Given the description of an element on the screen output the (x, y) to click on. 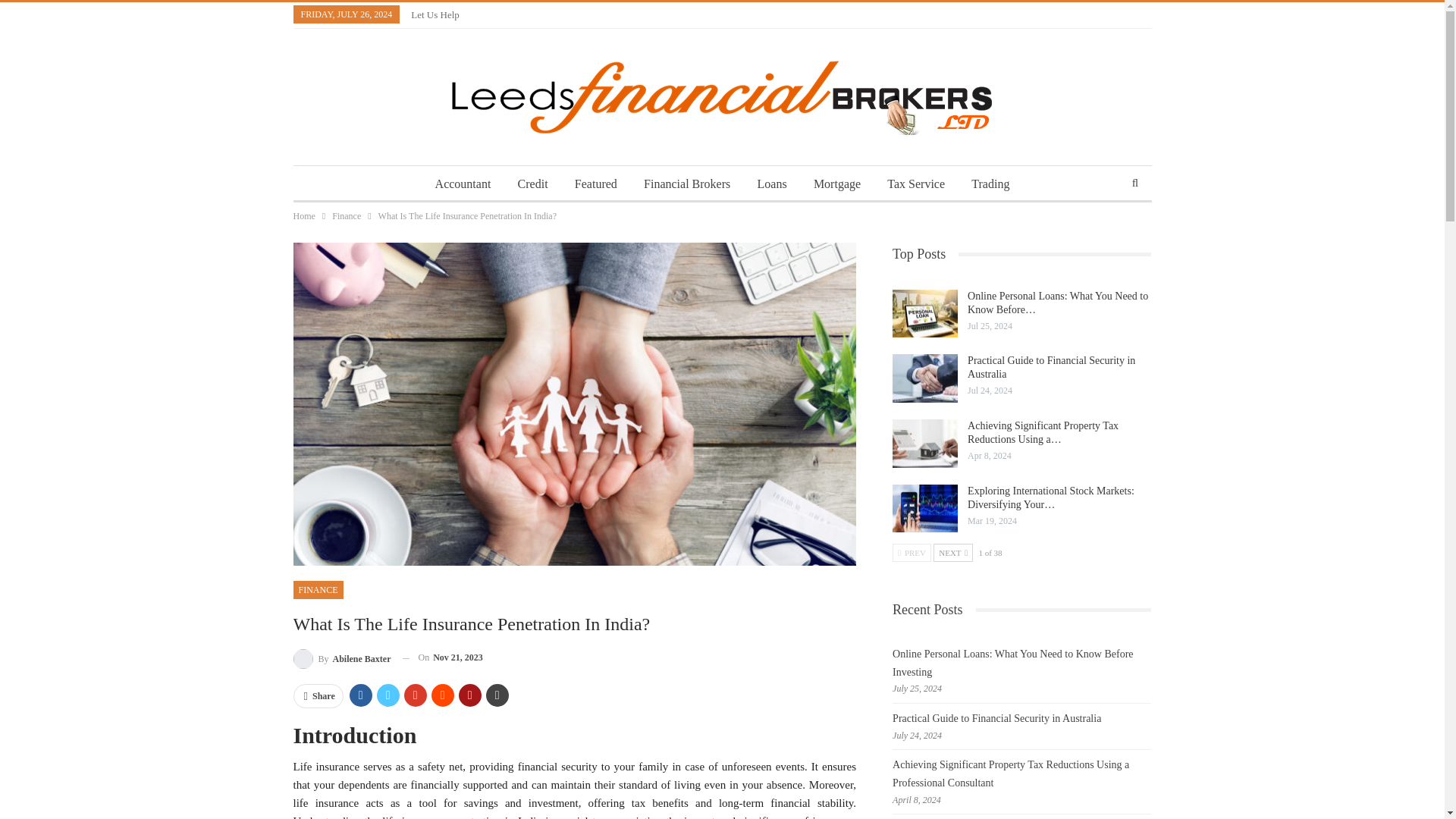
Financial Brokers (686, 184)
Featured (596, 184)
Finance (346, 216)
Credit (532, 184)
Trading (989, 184)
Browse Author Articles (341, 657)
Mortgage (837, 184)
Tax Service (915, 184)
Let Us Help (435, 14)
By Abilene Baxter (341, 657)
Loans (772, 184)
Practical Guide to Financial Security in Australia (925, 377)
Home (303, 216)
Accountant (463, 184)
FINANCE (317, 589)
